Given the description of an element on the screen output the (x, y) to click on. 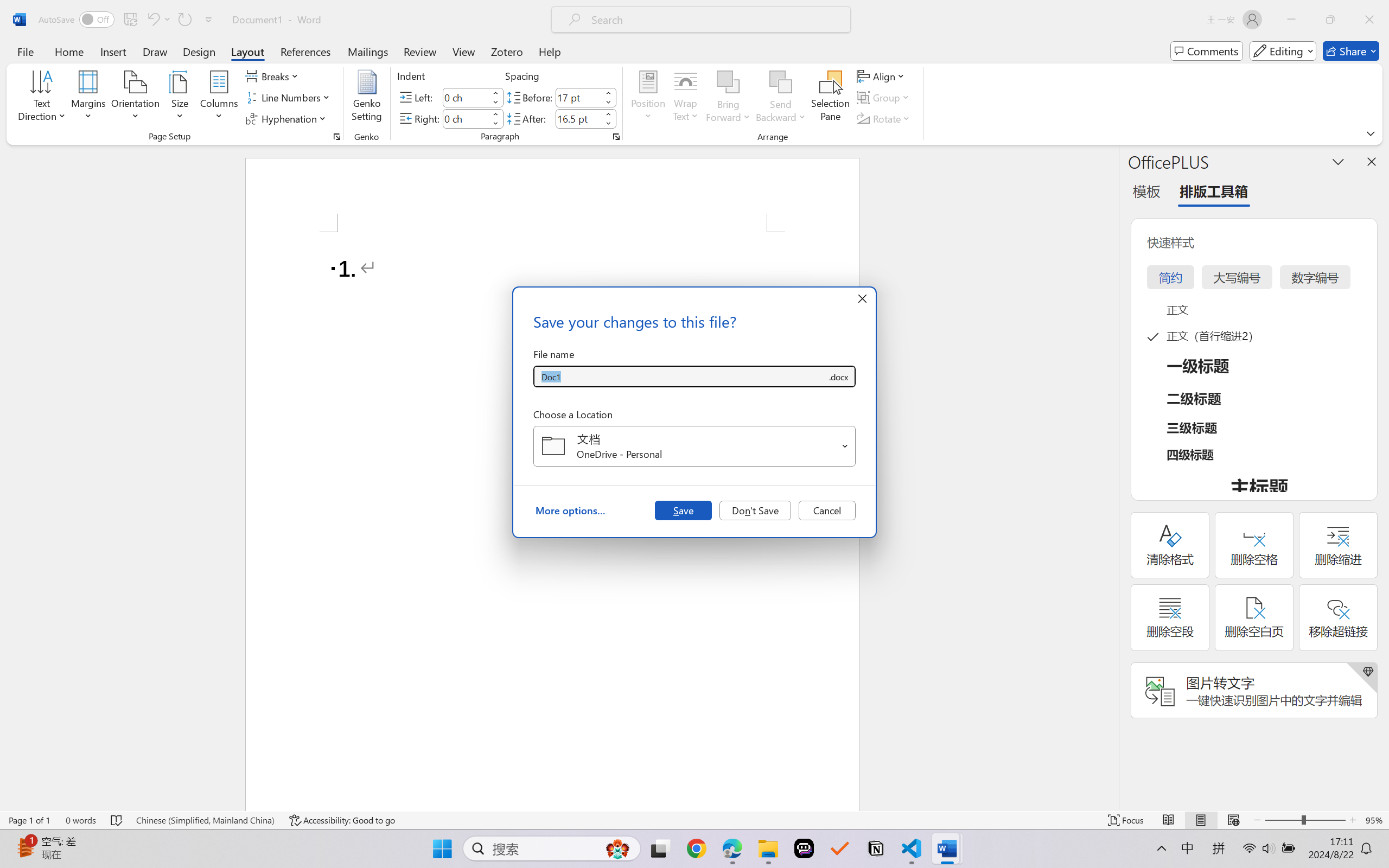
Bring Forward (728, 97)
Bring Forward (728, 81)
Page Setup... (336, 136)
Save as type (837, 376)
Margins (88, 97)
Send Backward (781, 81)
